Given the description of an element on the screen output the (x, y) to click on. 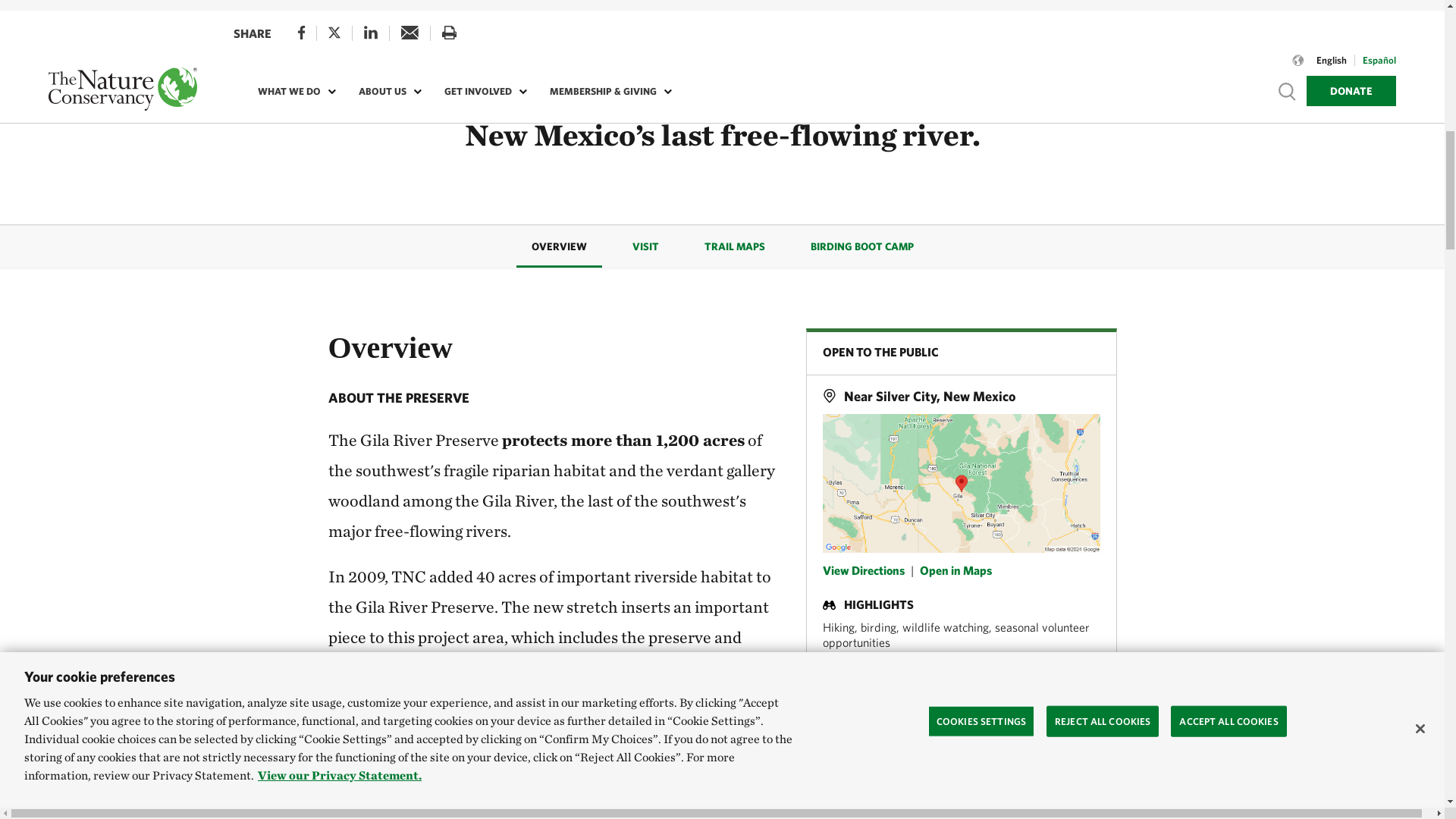
Open in Maps (954, 570)
View Directions (863, 570)
